Given the description of an element on the screen output the (x, y) to click on. 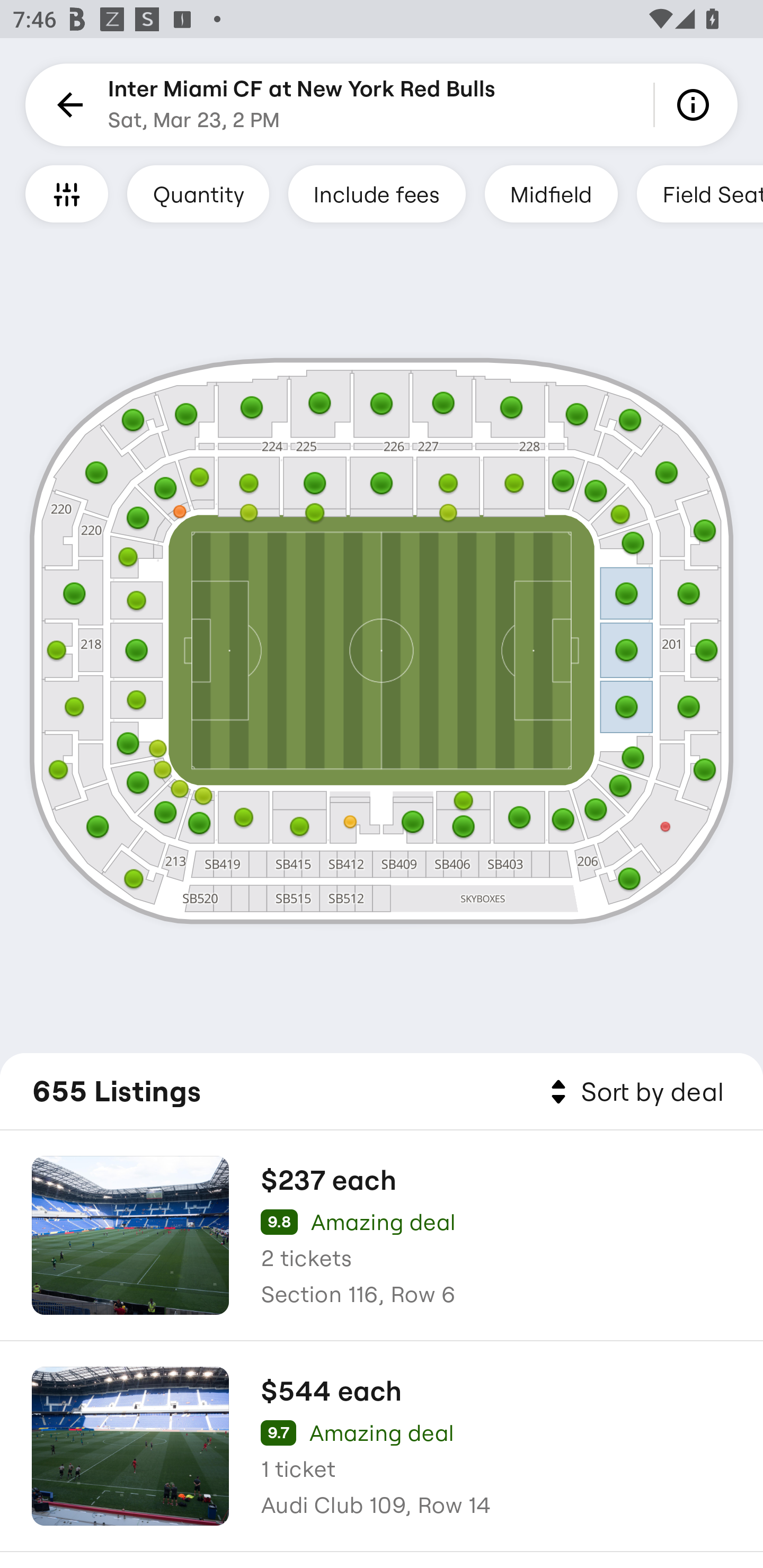
Back (66, 104)
Info (695, 104)
Filters and Accessible Seating (66, 193)
Quantity (198, 193)
Include fees (376, 193)
Midfield (551, 193)
Field Seats (700, 193)
Sort by deal (633, 1091)
